Given the description of an element on the screen output the (x, y) to click on. 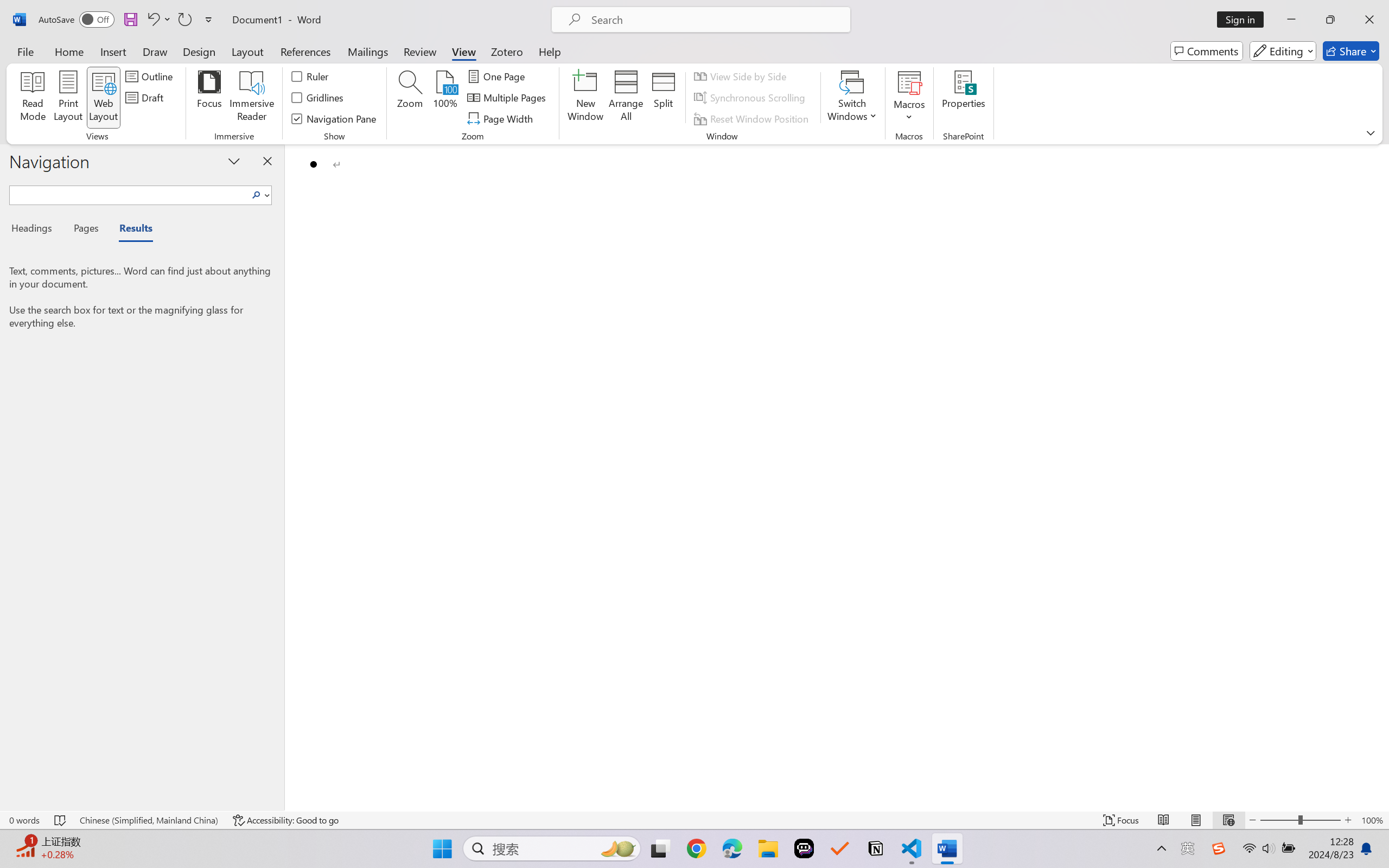
Immersive Reader (251, 97)
Pages (85, 229)
